Given the description of an element on the screen output the (x, y) to click on. 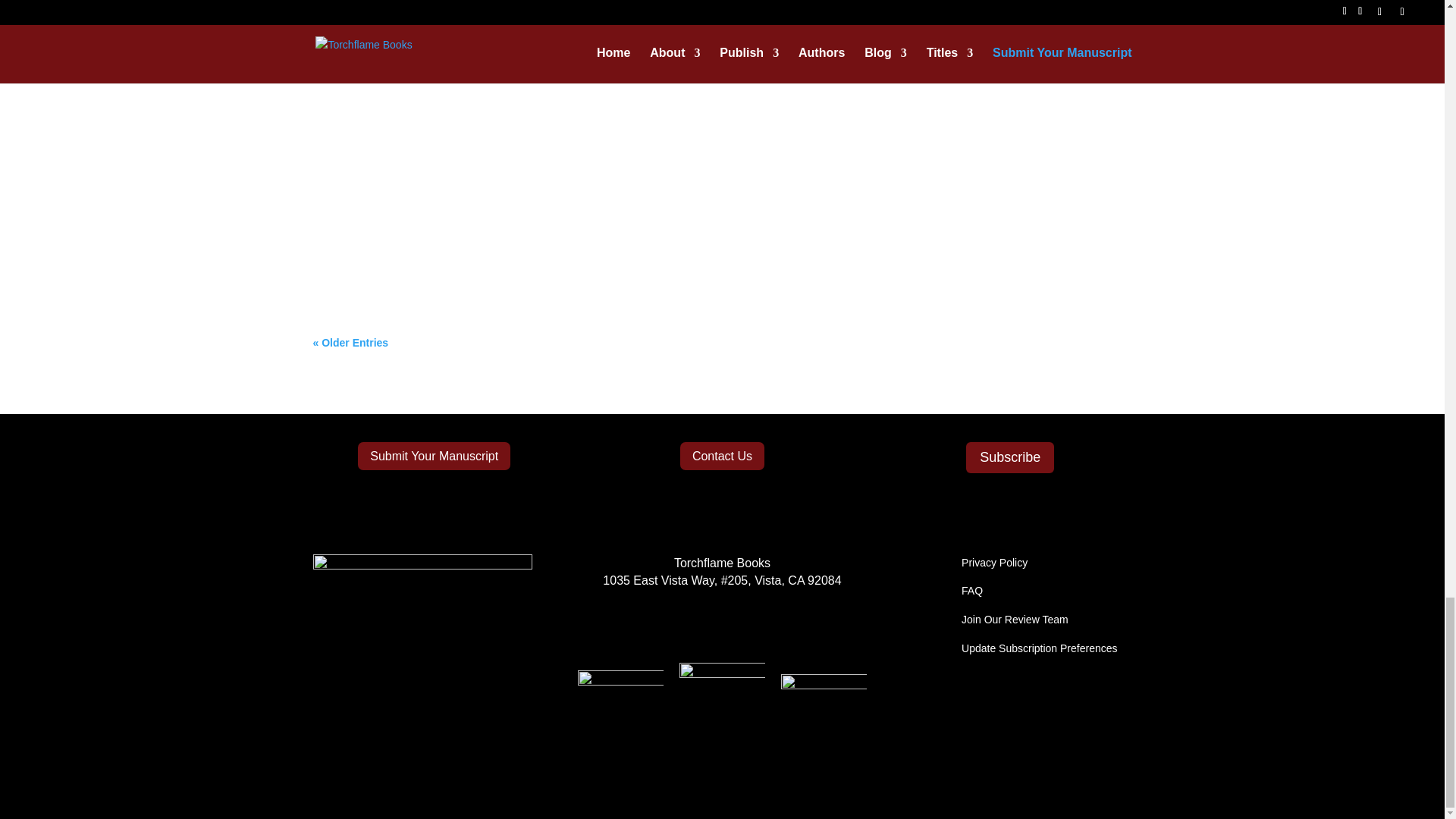
IBPA-logo-165 (620, 700)
IPG-logo (722, 704)
Ingram-logo-200 (823, 695)
